Given the description of an element on the screen output the (x, y) to click on. 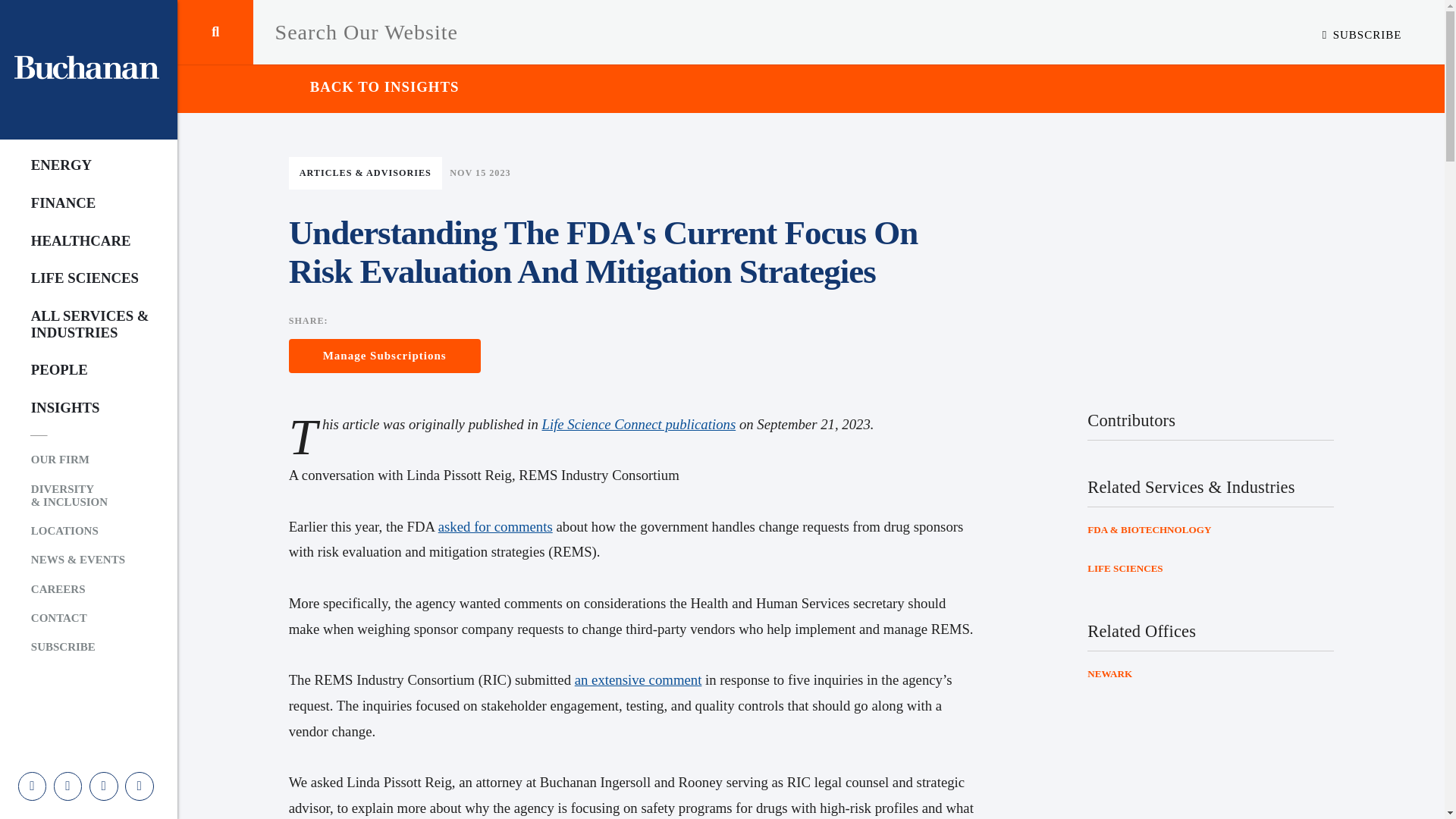
SUBSCRIBE (77, 647)
Search (215, 32)
Click Here to Subscribe (1362, 34)
CAREERS (77, 588)
LOCATIONS (77, 531)
LIFE SCIENCES (77, 278)
ENERGY (77, 165)
HEALTHCARE (77, 240)
BACK TO INSIGHTS (374, 89)
PEOPLE (77, 370)
OUR FIRM (77, 460)
SUBSCRIBE (1362, 34)
FINANCE (77, 202)
INSIGHTS (77, 407)
Click Here to Subscribe (77, 647)
